Given the description of an element on the screen output the (x, y) to click on. 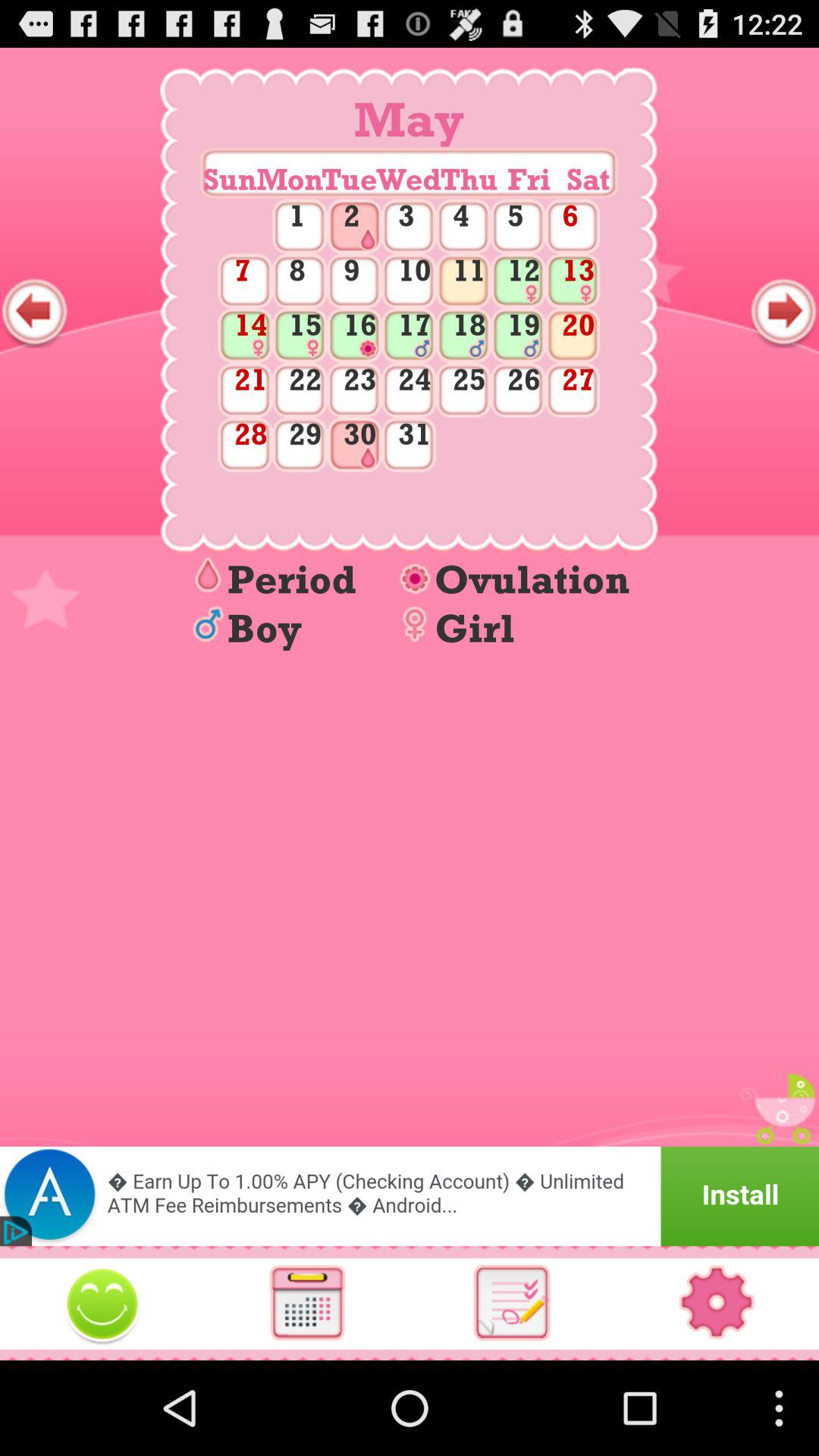
open calendar (306, 1302)
